Given the description of an element on the screen output the (x, y) to click on. 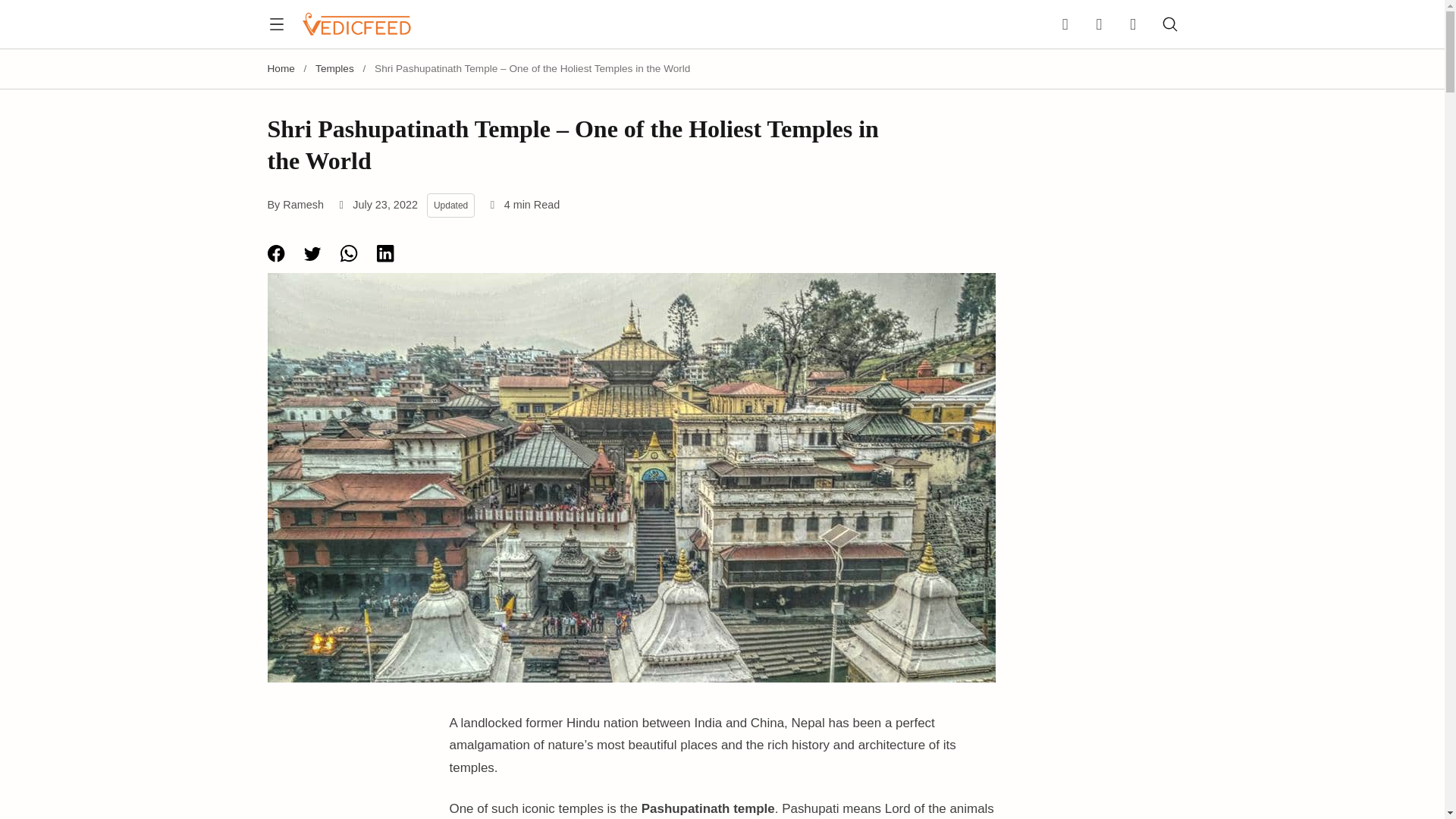
VedicFeed on Facebook (1069, 24)
VedicFeed on Twitter (1128, 24)
Ramesh (302, 204)
Temples (334, 68)
VedicFeed on Instagram (1098, 24)
Home (280, 68)
VedicFeed - Vedic Wisdom for the Modern World (355, 24)
